Given the description of an element on the screen output the (x, y) to click on. 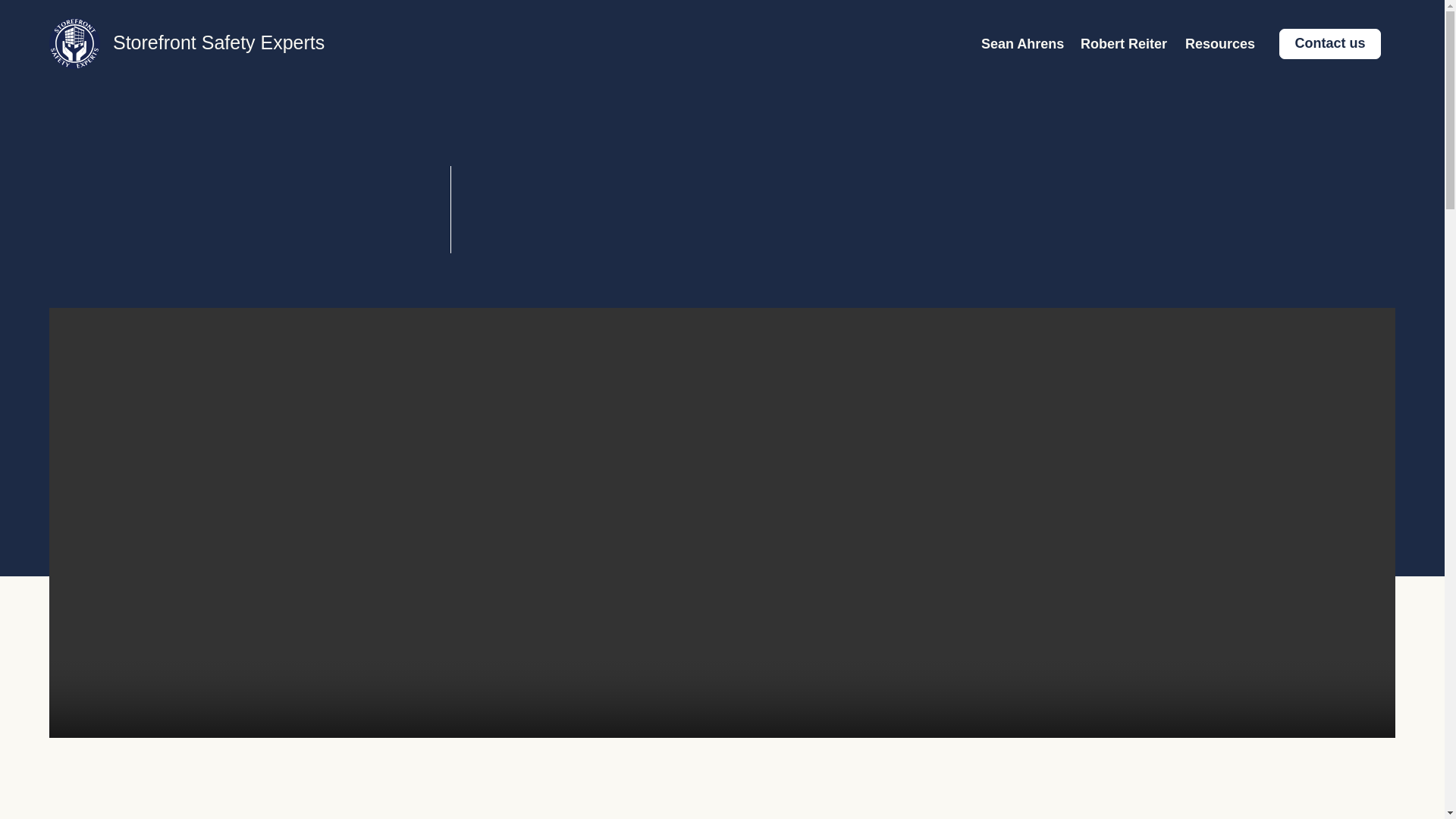
Resources (1216, 44)
Sean Ahrens (1018, 44)
Robert Reiter (1120, 44)
Storefront Safety Experts (218, 42)
Contact us (1329, 43)
